Given the description of an element on the screen output the (x, y) to click on. 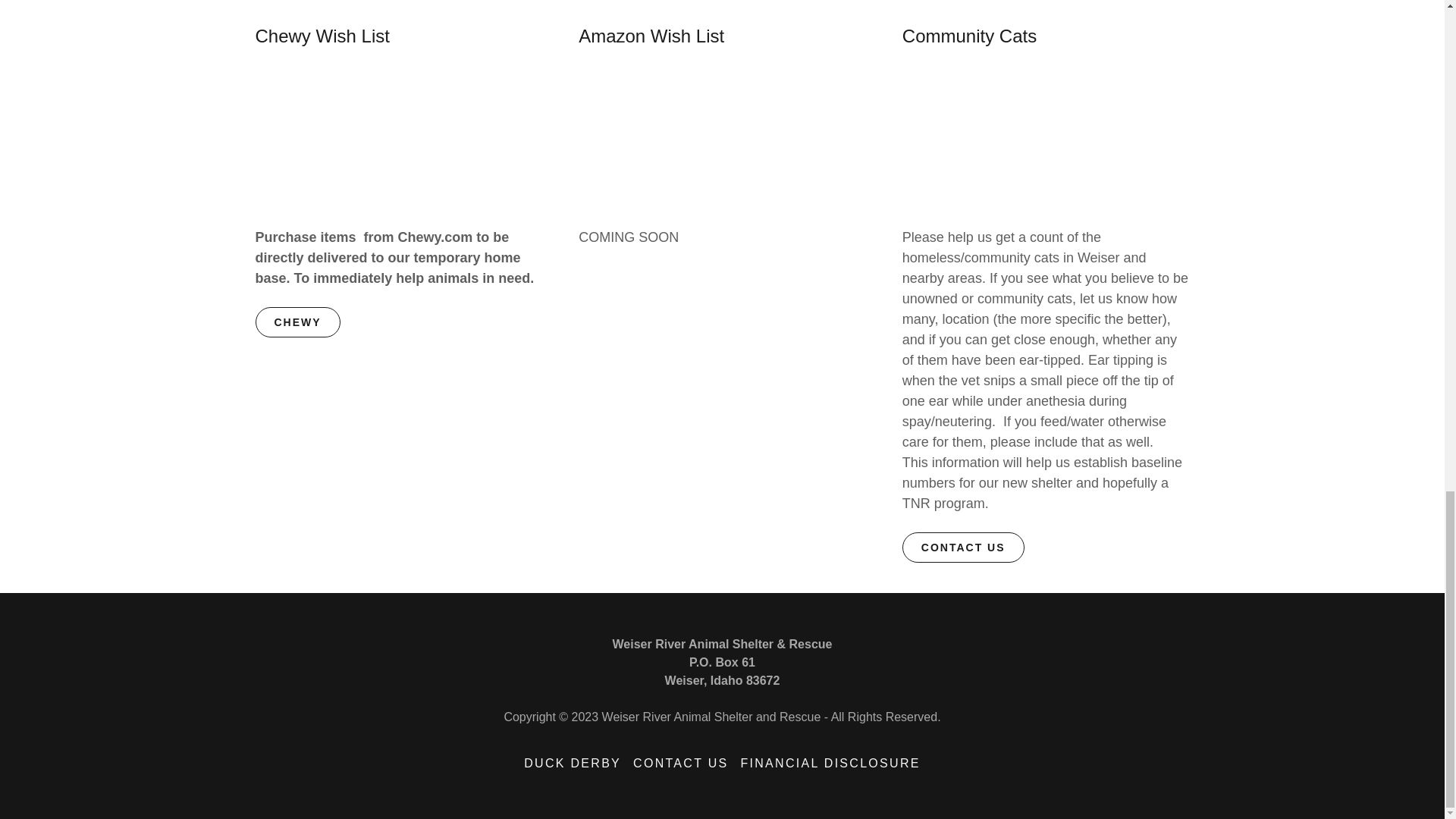
CONTACT US (963, 547)
FINANCIAL DISCLOSURE (829, 763)
CONTACT US (680, 763)
CHEWY (296, 322)
DUCK DERBY (572, 763)
